Given the description of an element on the screen output the (x, y) to click on. 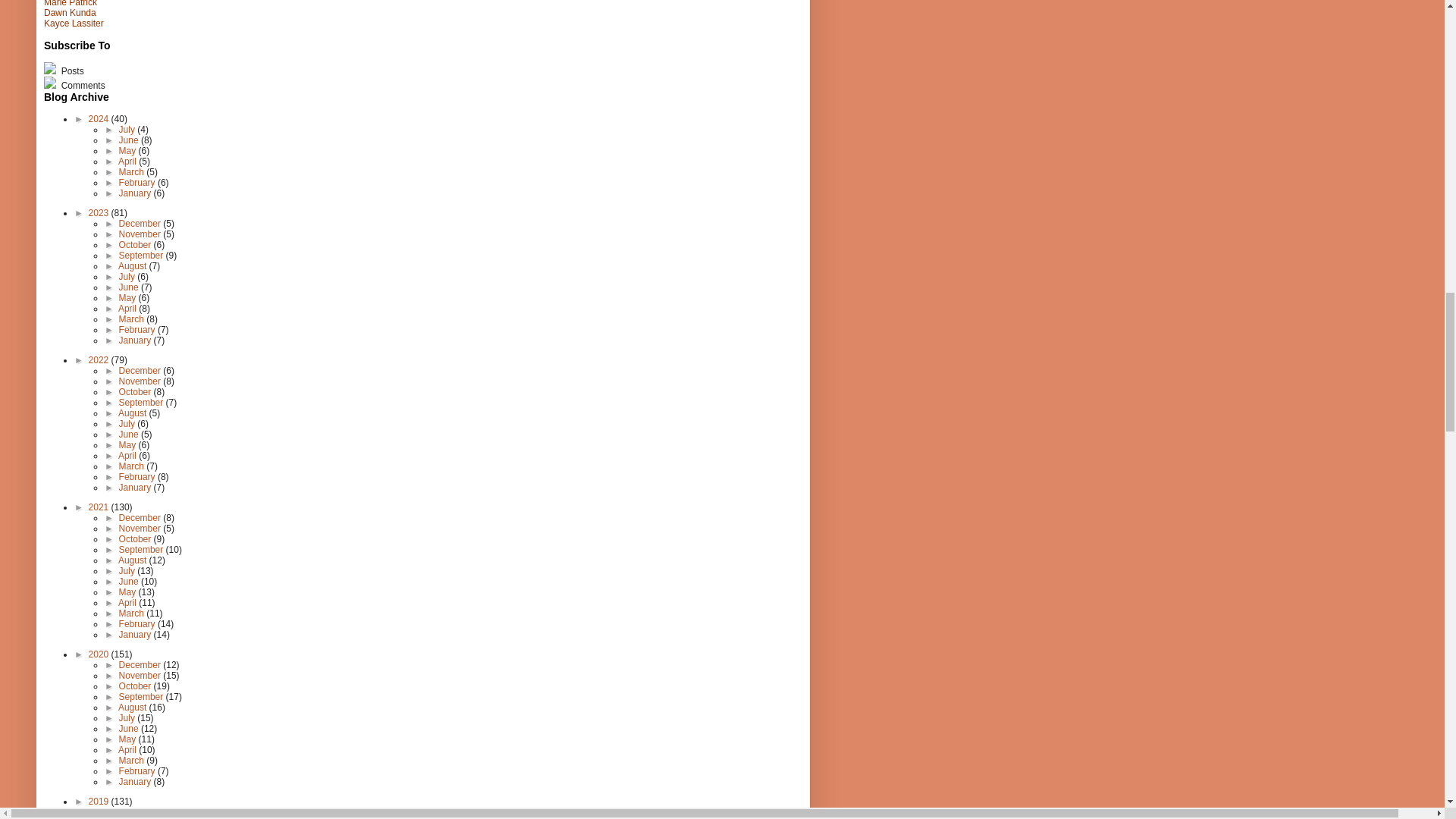
June (130, 140)
July (128, 129)
2024 (100, 118)
